Given the description of an element on the screen output the (x, y) to click on. 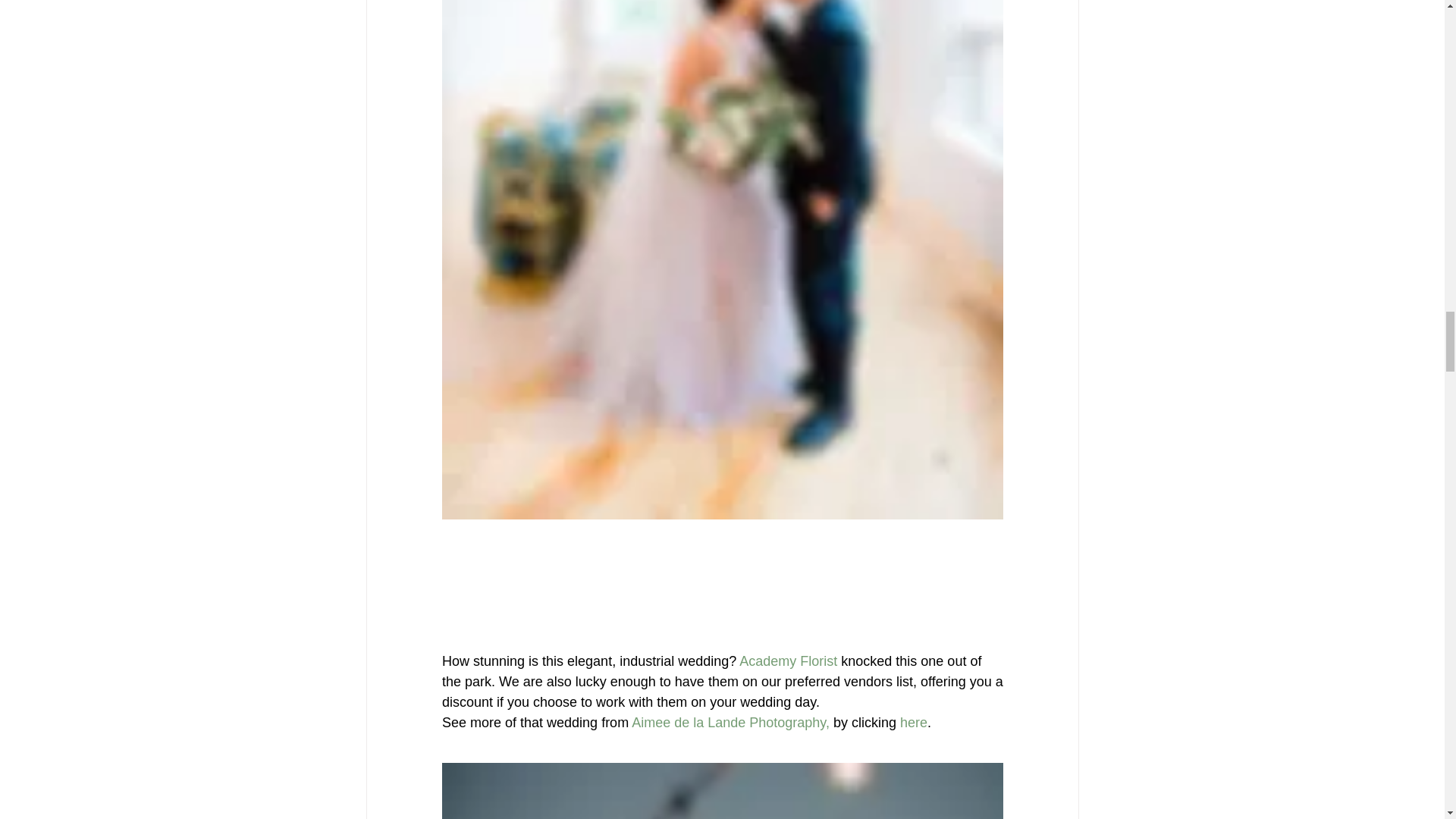
Aimee de la Lande Photography, (730, 722)
 Academy Florist (786, 661)
here (913, 722)
